Given the description of an element on the screen output the (x, y) to click on. 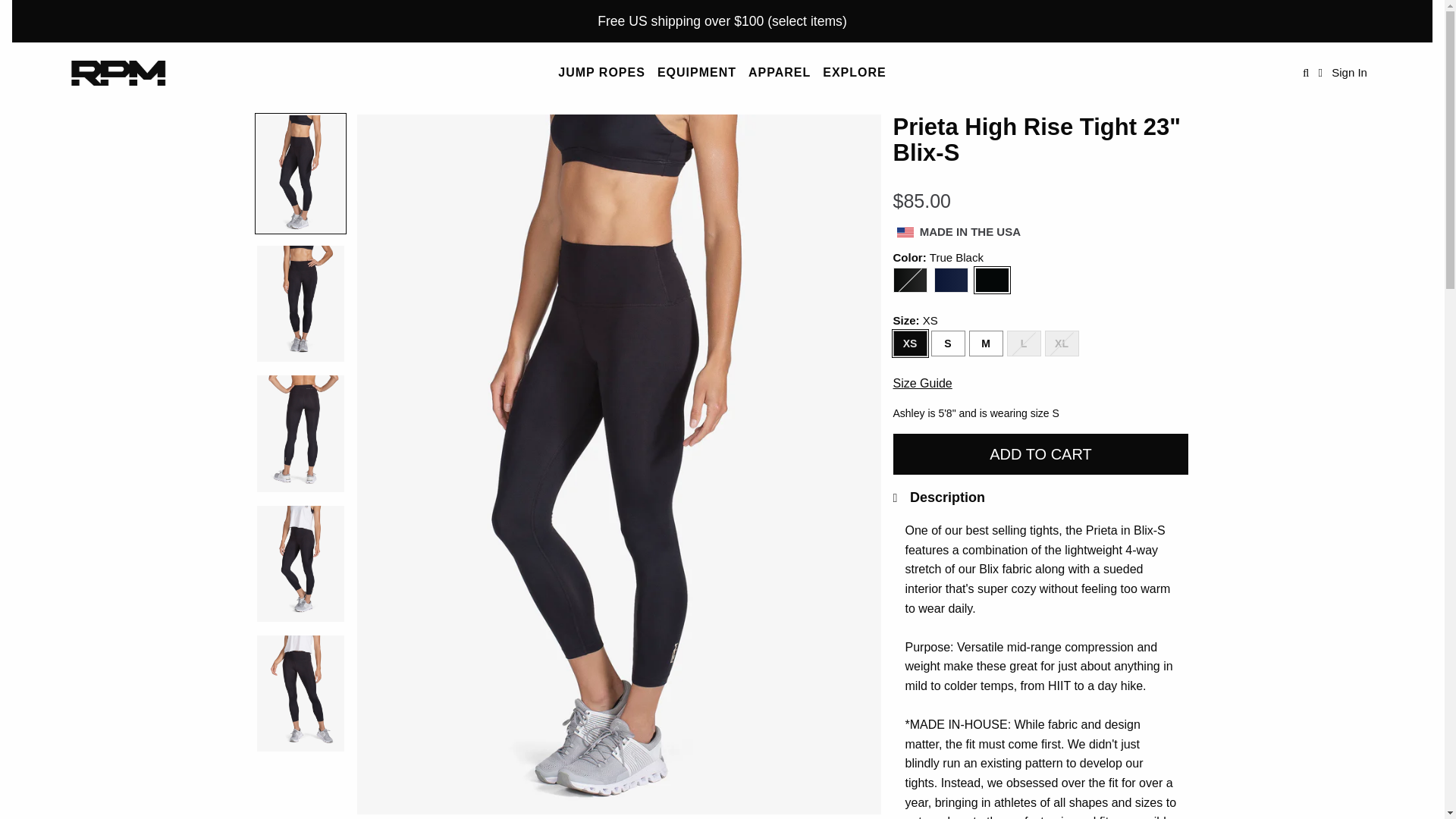
APPAREL (779, 72)
JUMP ROPES (600, 72)
select items (807, 20)
EQUIPMENT (696, 72)
